Given the description of an element on the screen output the (x, y) to click on. 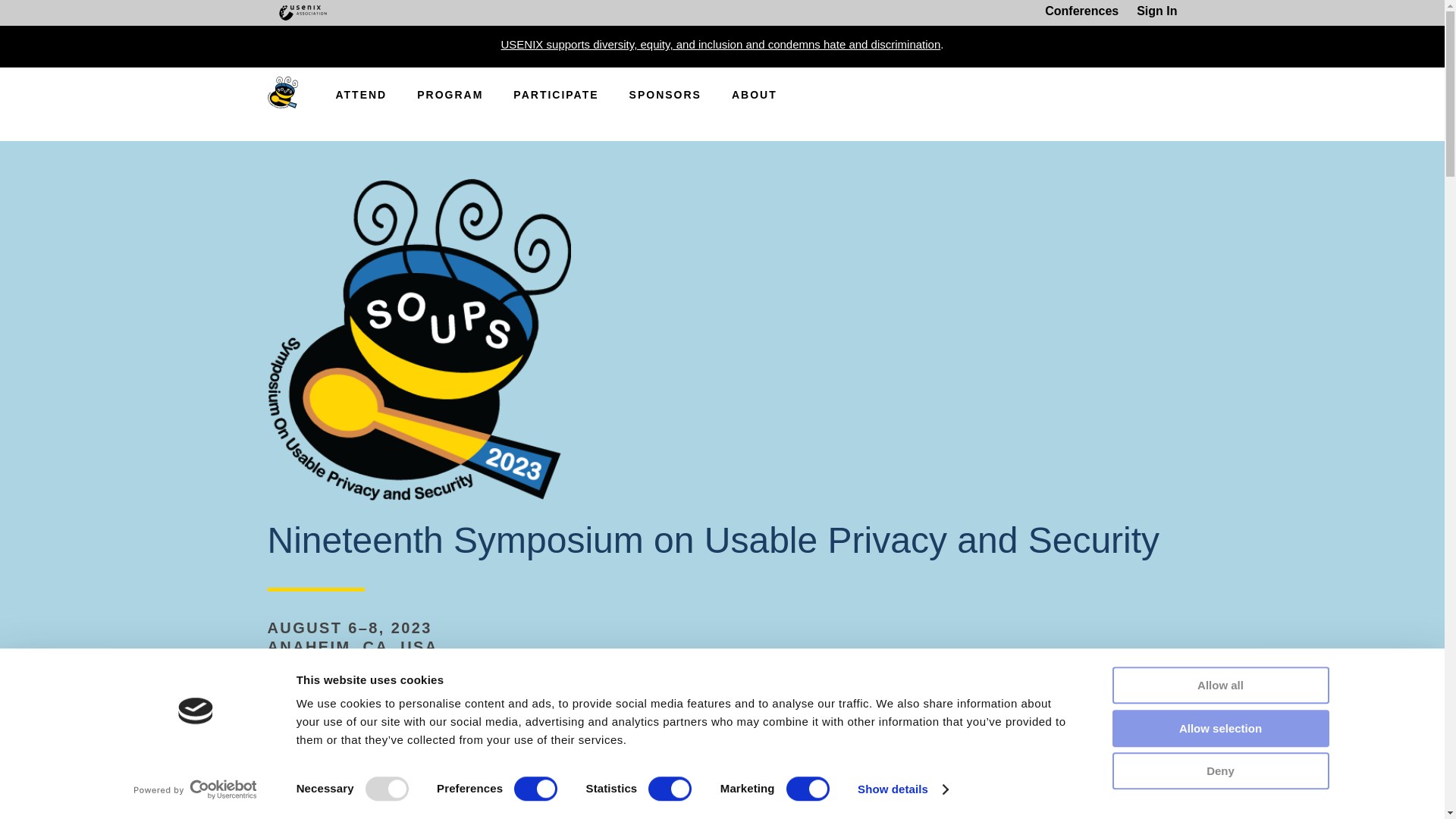
Show details (902, 789)
